Given the description of an element on the screen output the (x, y) to click on. 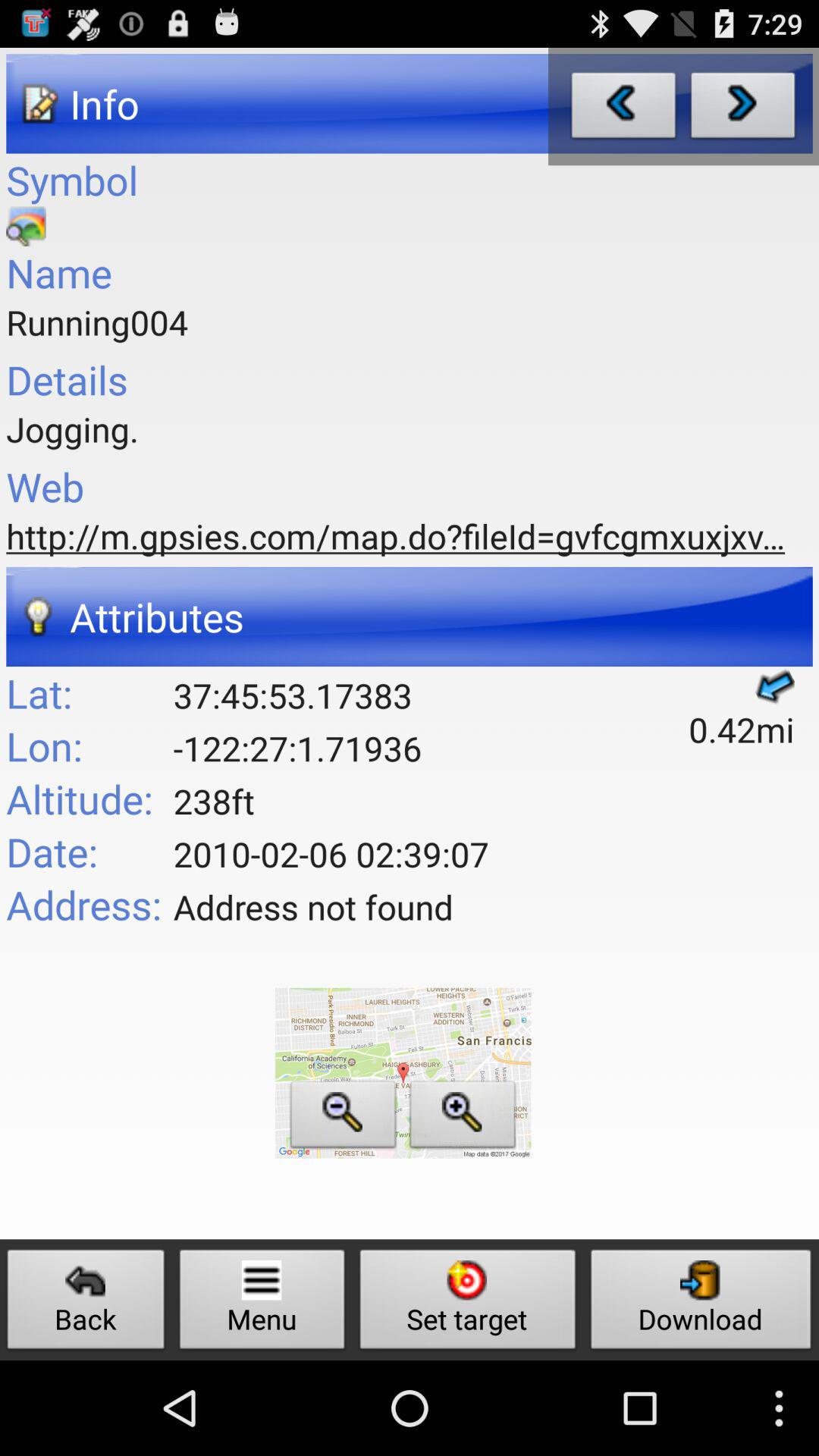
zoom out map (343, 1118)
